Given the description of an element on the screen output the (x, y) to click on. 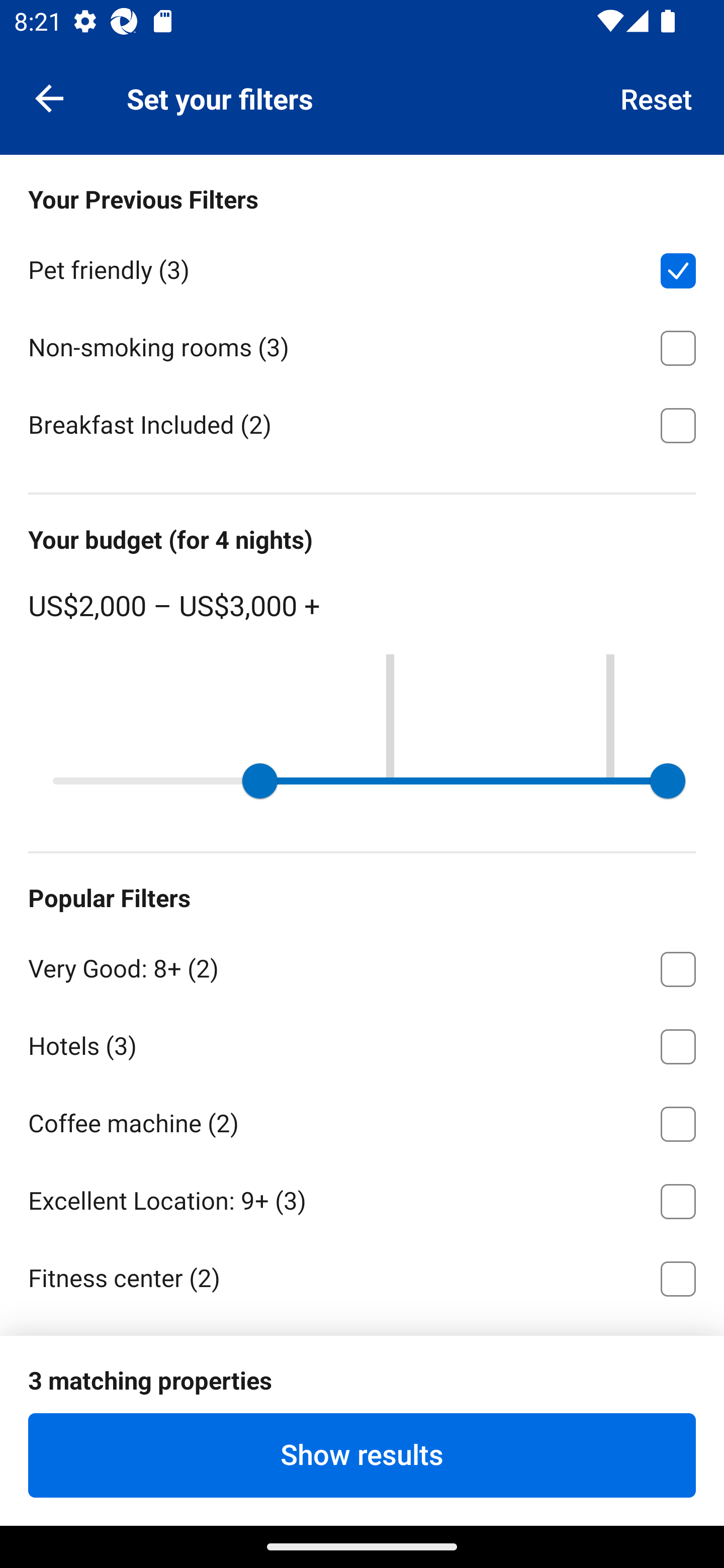
Navigate up (49, 97)
Reset (656, 97)
Pet friendly ⁦(3) (361, 266)
Non-smoking rooms ⁦(3) (361, 344)
Breakfast Included ⁦(2) (361, 424)
Very Good: 8+ ⁦(2) (361, 965)
Hotels ⁦(3) (361, 1043)
Coffee machine ⁦(2) (361, 1119)
Excellent Location: 9+ ⁦(3) (361, 1197)
Fitness center ⁦(2) (361, 1279)
Show results (361, 1454)
